Given the description of an element on the screen output the (x, y) to click on. 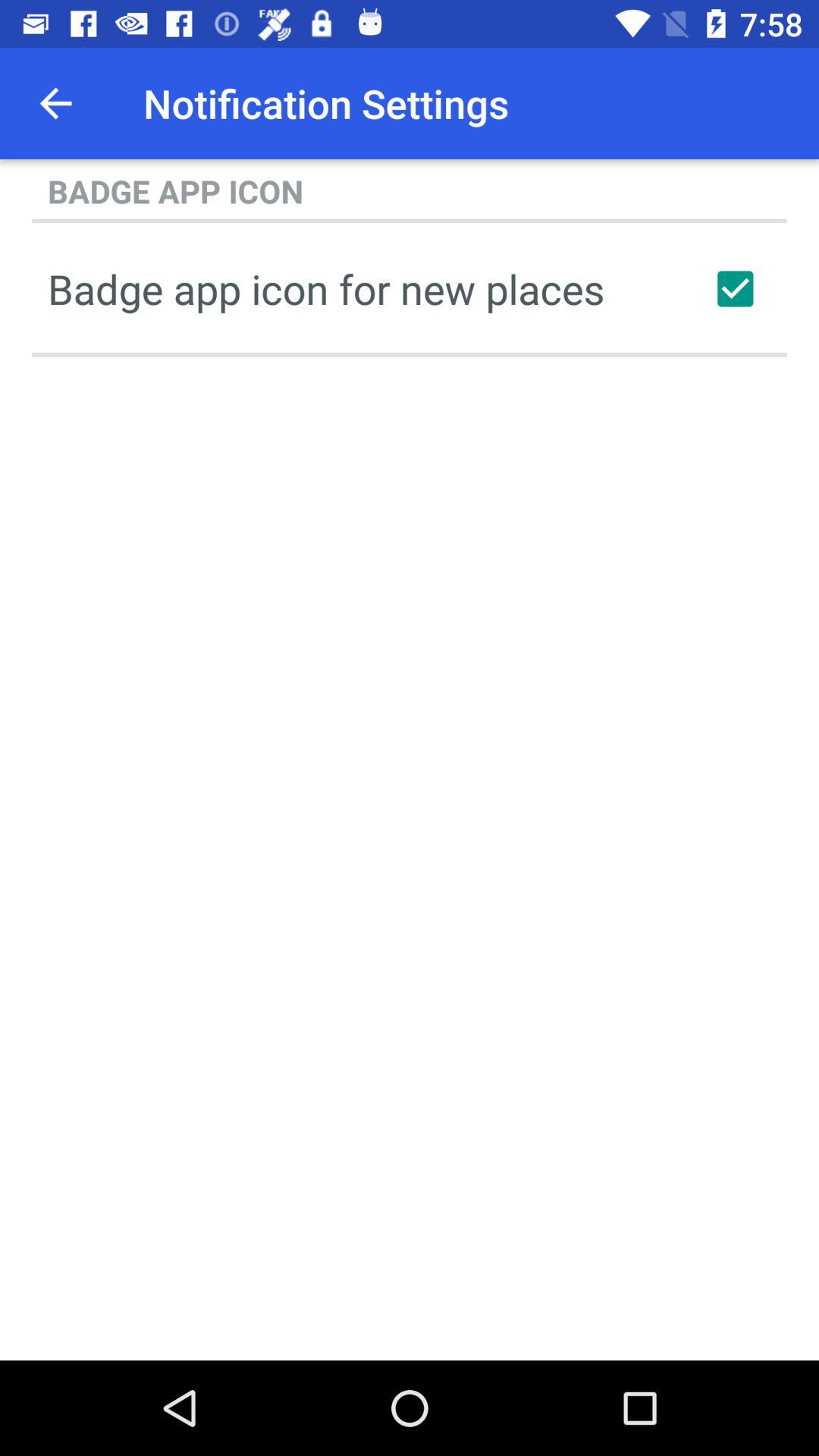
click icon next to the badge app icon item (735, 288)
